Given the description of an element on the screen output the (x, y) to click on. 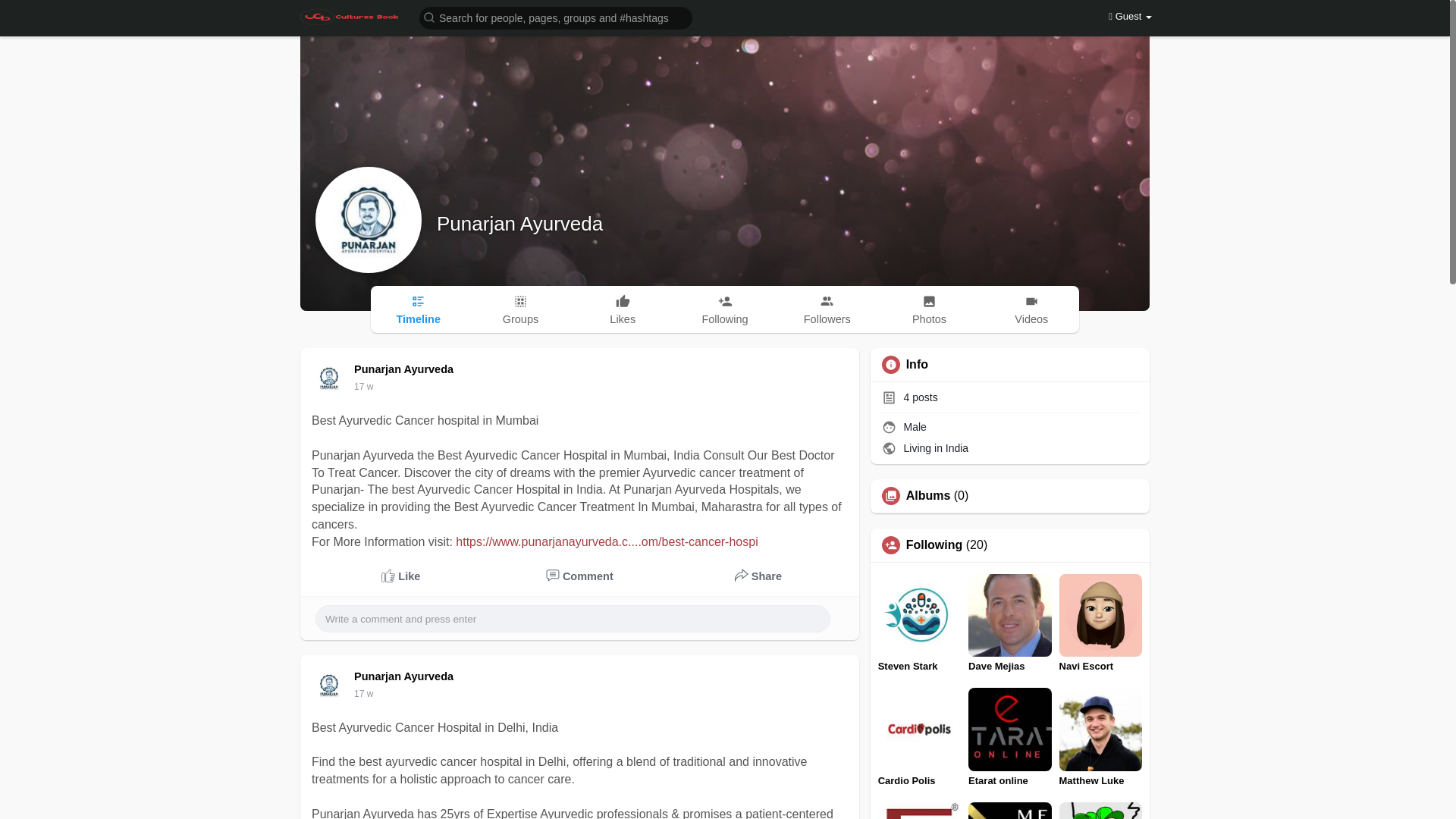
Punarjan Ayurveda (405, 369)
Comments (579, 576)
Share (757, 576)
17 w (362, 386)
Followers (826, 308)
Punarjan Ayurveda (519, 223)
Following (933, 544)
Videos (1031, 308)
Timeline (418, 308)
Albums (927, 495)
Punarjan Ayurveda (405, 676)
Groups (520, 308)
17 w (362, 386)
Likes (622, 308)
Guest (1129, 17)
